Given the description of an element on the screen output the (x, y) to click on. 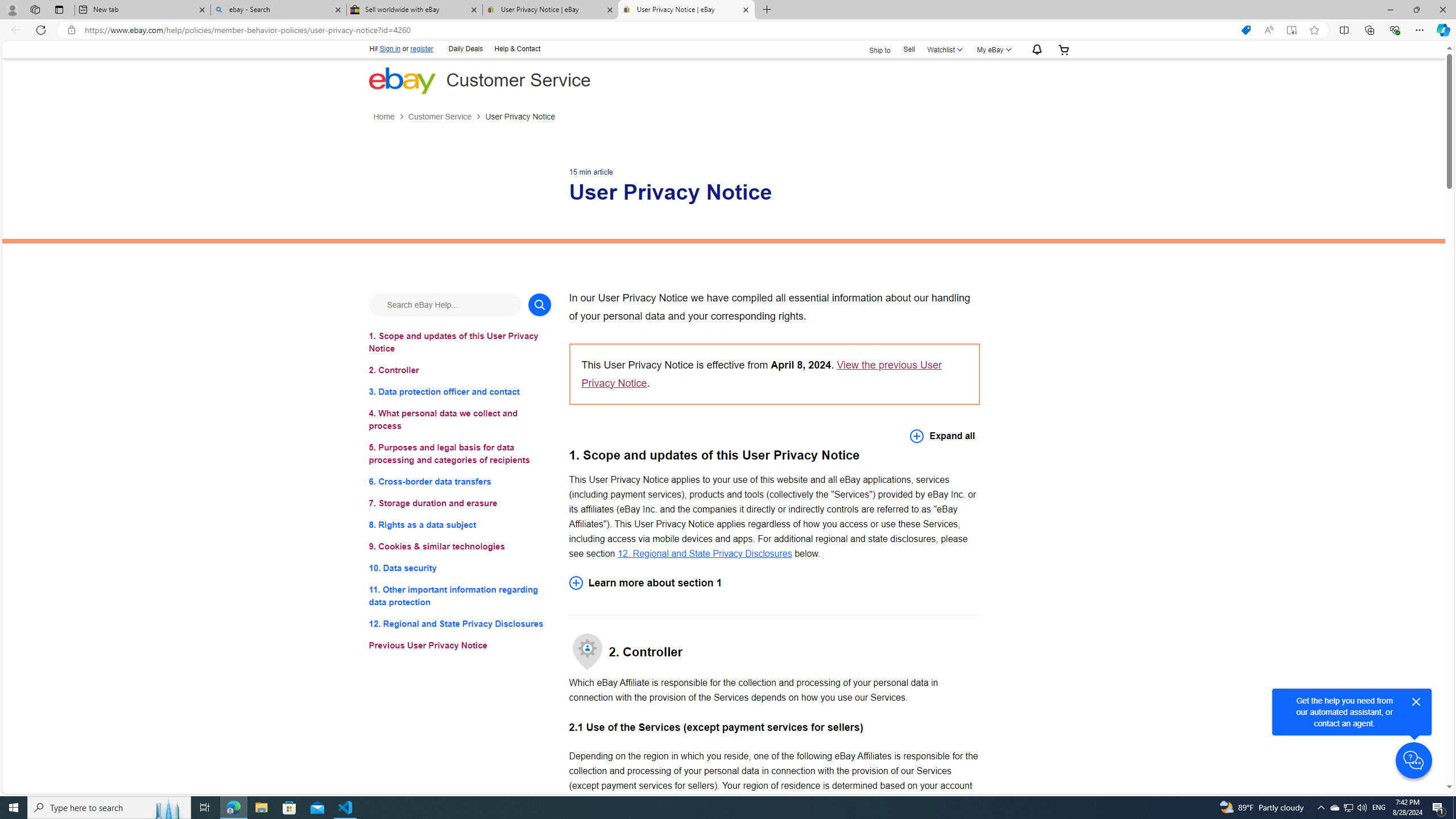
Learn more about section 1 (774, 582)
4. What personal data we collect and process (459, 419)
Expand Cart (1064, 49)
1. Scope and updates of this User Privacy Notice (459, 341)
register (421, 49)
eBay Home (401, 80)
1. Scope and updates of this User Privacy Notice (459, 341)
Ship to (872, 50)
10. Data security (459, 567)
Help & Contact (516, 48)
